Given the description of an element on the screen output the (x, y) to click on. 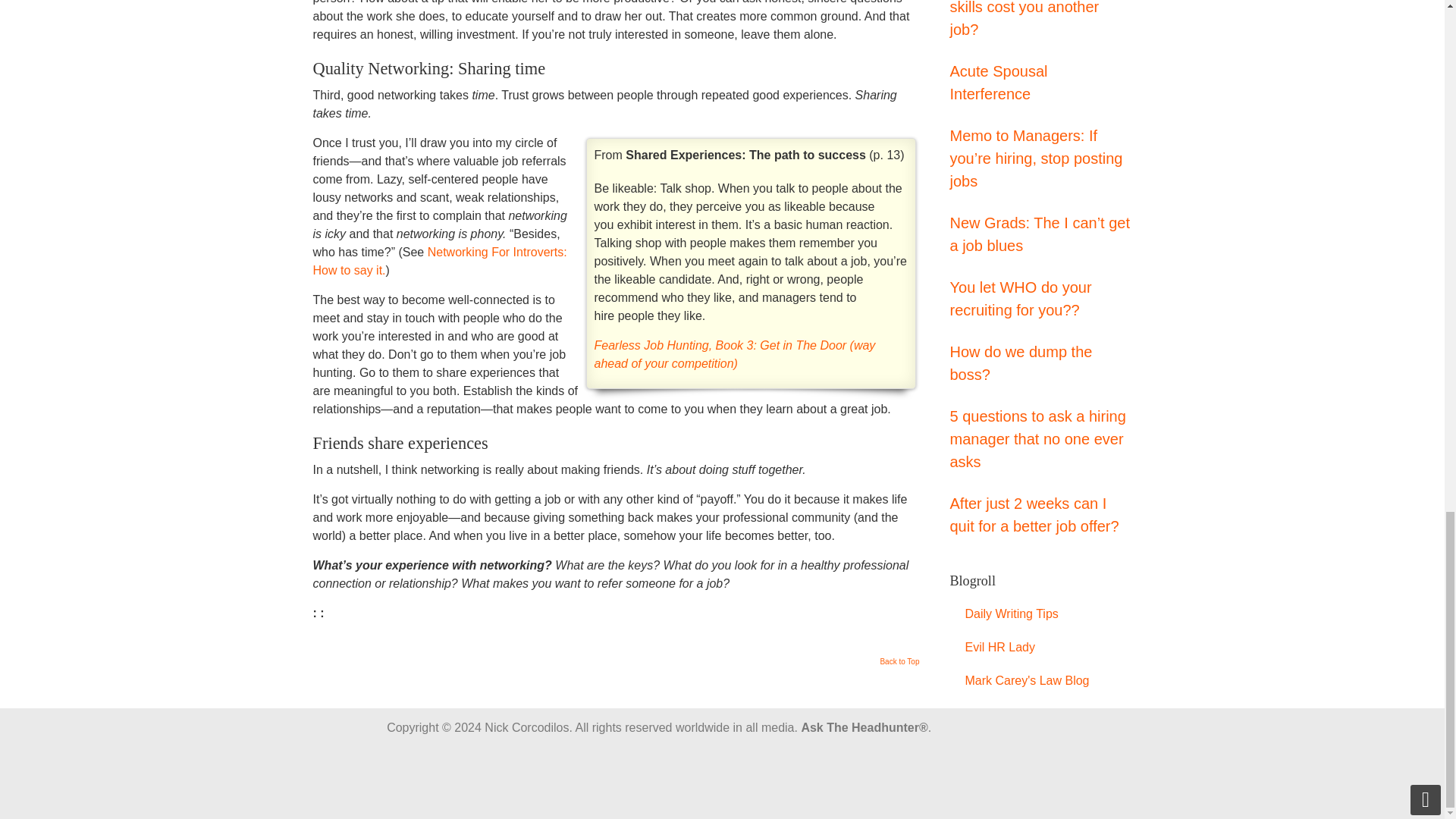
Networking For Introverts: How to say it. (439, 260)
Top of Page (898, 665)
